Given the description of an element on the screen output the (x, y) to click on. 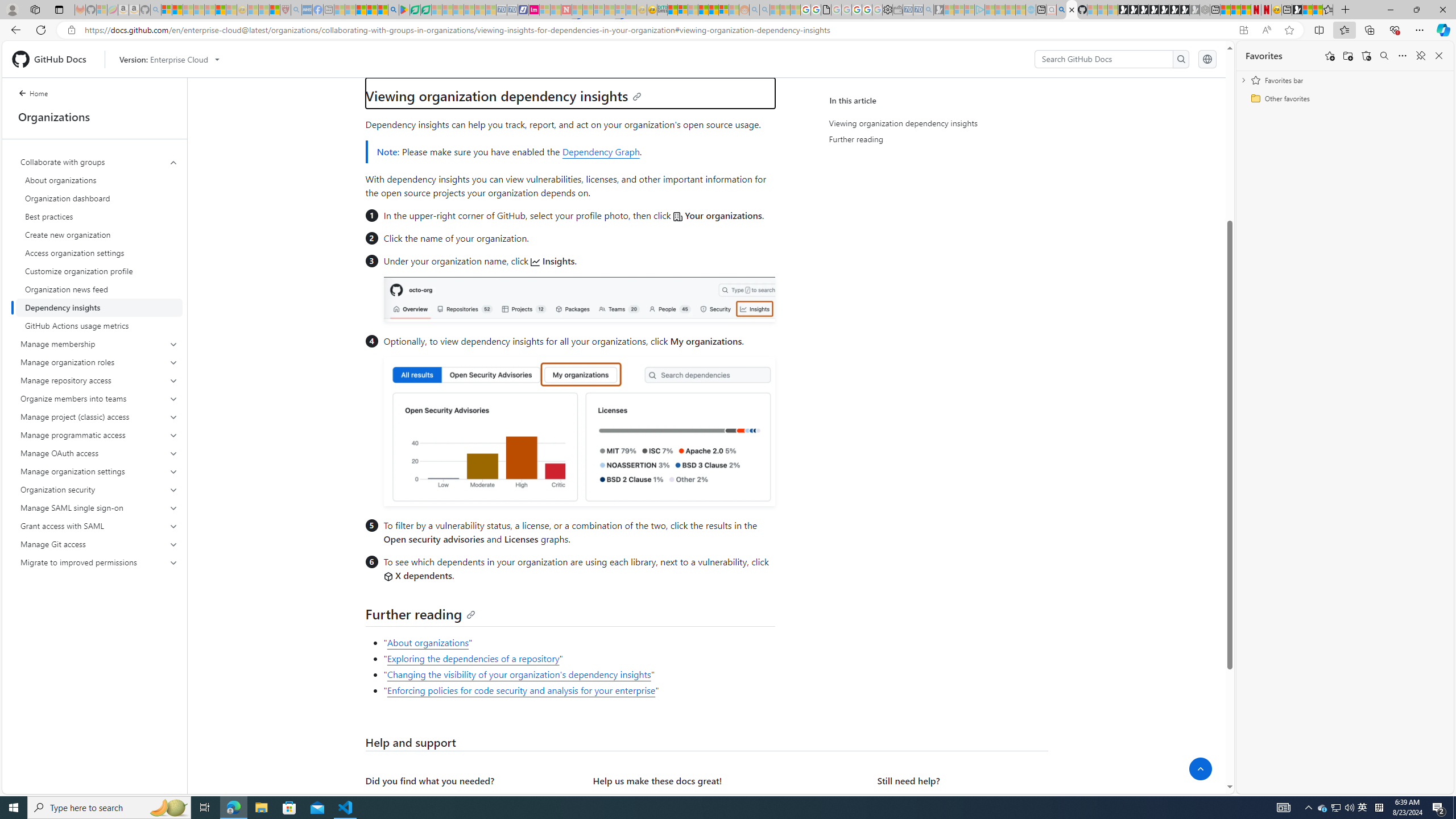
GitHub Actions usage metrics (99, 325)
Bluey: Let's Play! - Apps on Google Play (404, 9)
Access organization settings (99, 253)
Customize organization profile (99, 271)
